Given the description of an element on the screen output the (x, y) to click on. 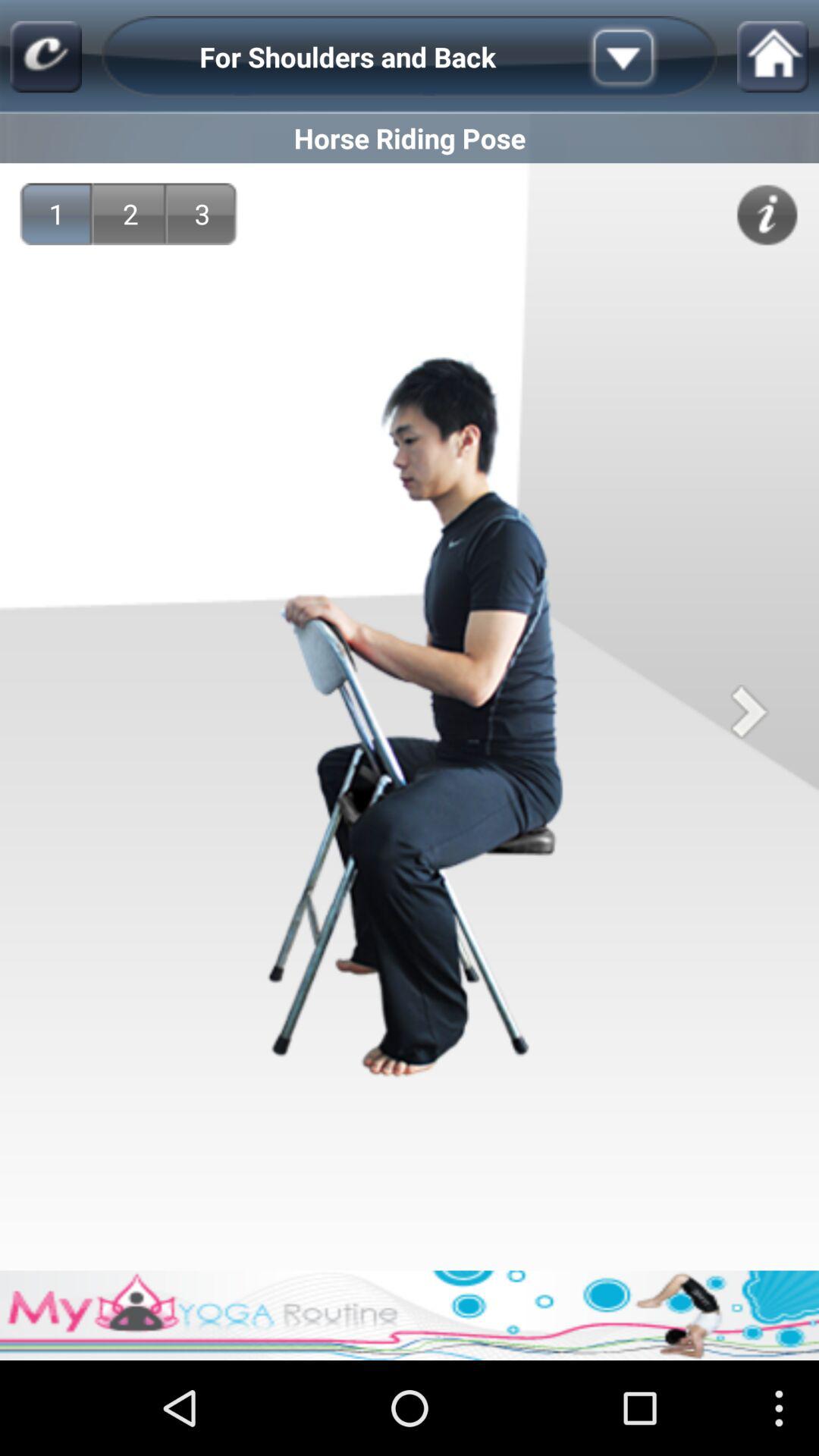
more options (646, 56)
